Given the description of an element on the screen output the (x, y) to click on. 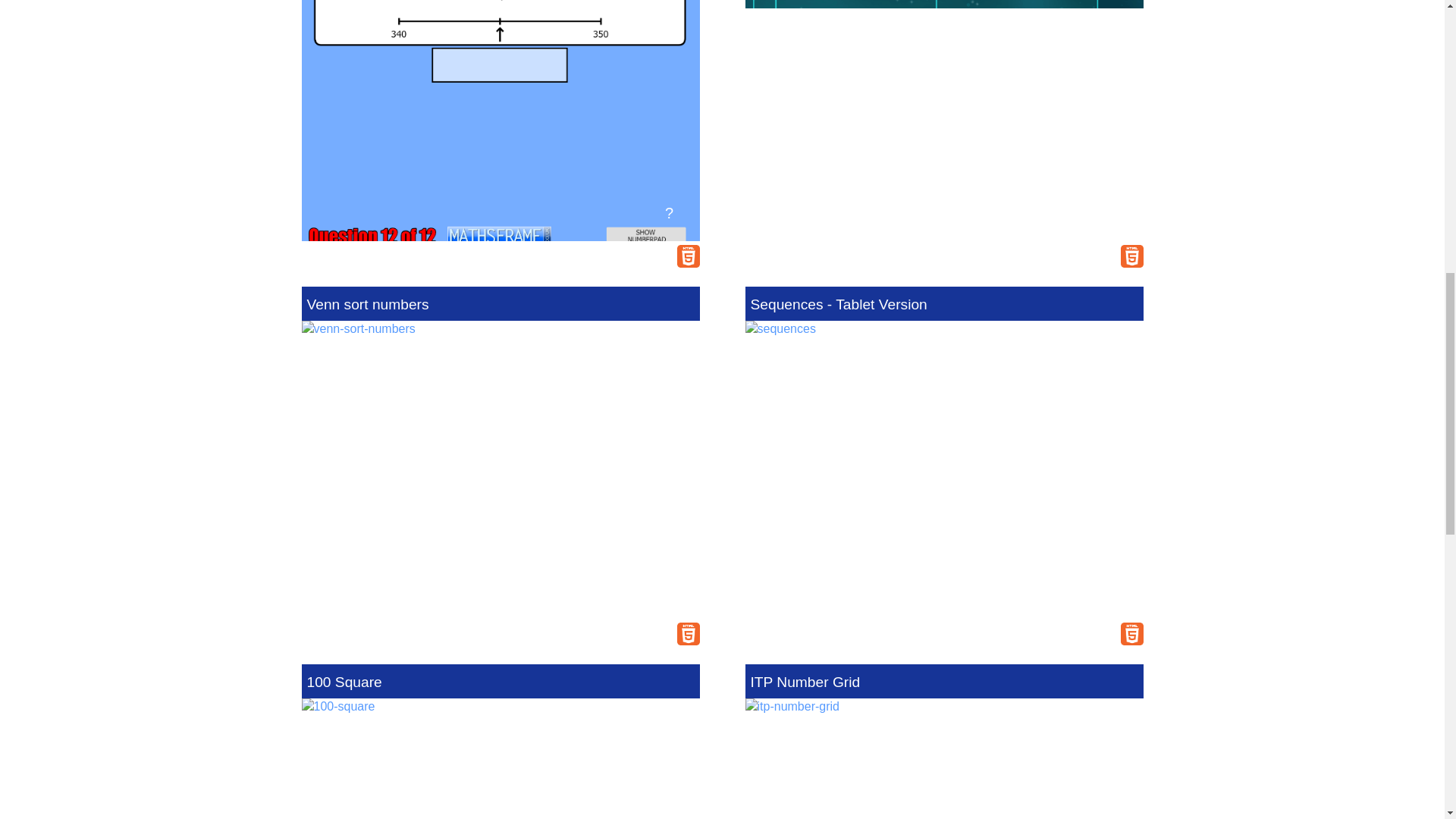
? (668, 210)
Carroll Sort Numbers (943, 120)
? (1112, 210)
